Given the description of an element on the screen output the (x, y) to click on. 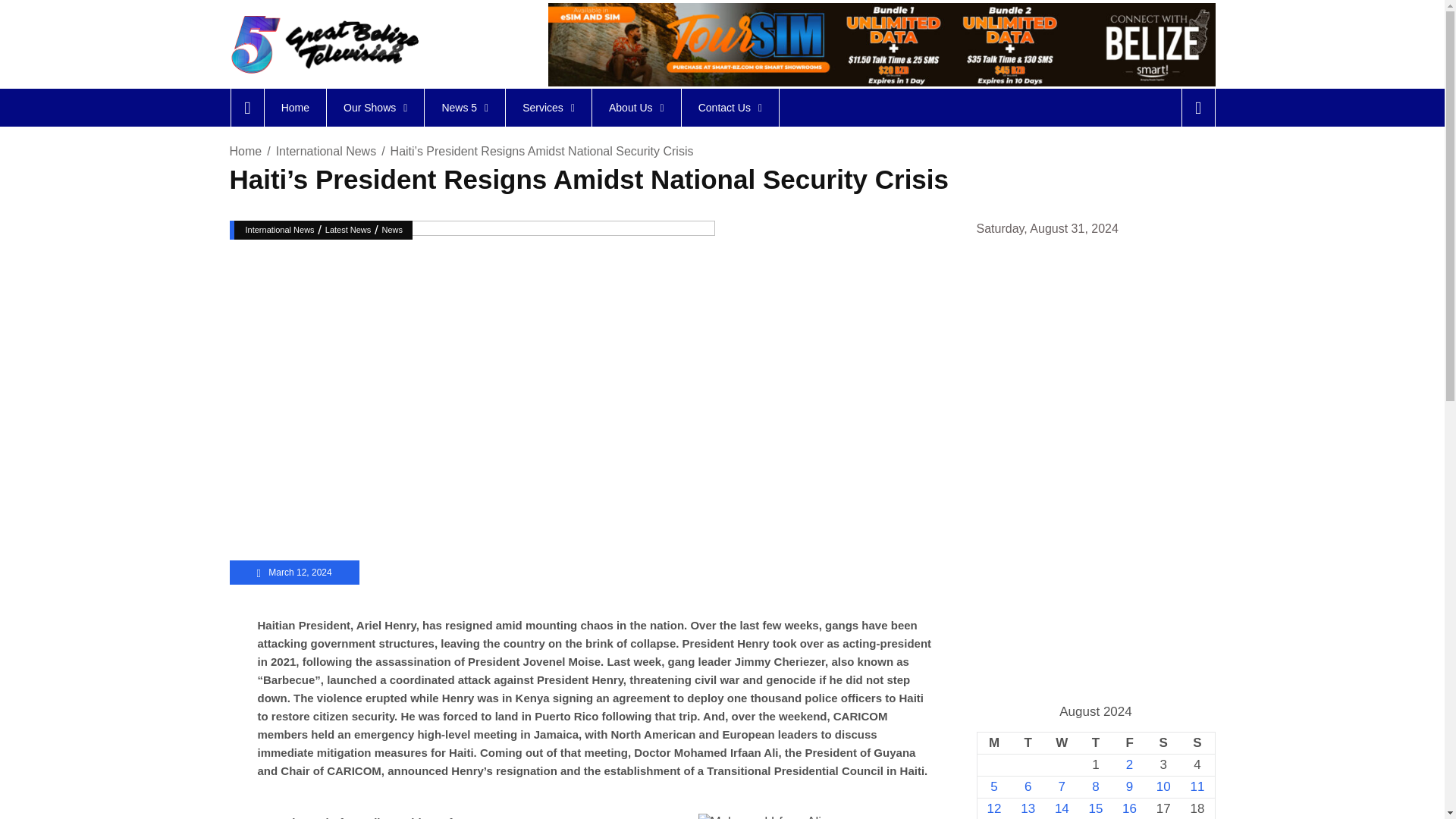
Thursday (1095, 742)
Tuesday (1027, 742)
Wednesday (1061, 742)
Saturday (1163, 742)
Sunday (1196, 742)
Our Shows (374, 107)
Monday (993, 742)
Home (294, 107)
Friday (1129, 742)
